Given the description of an element on the screen output the (x, y) to click on. 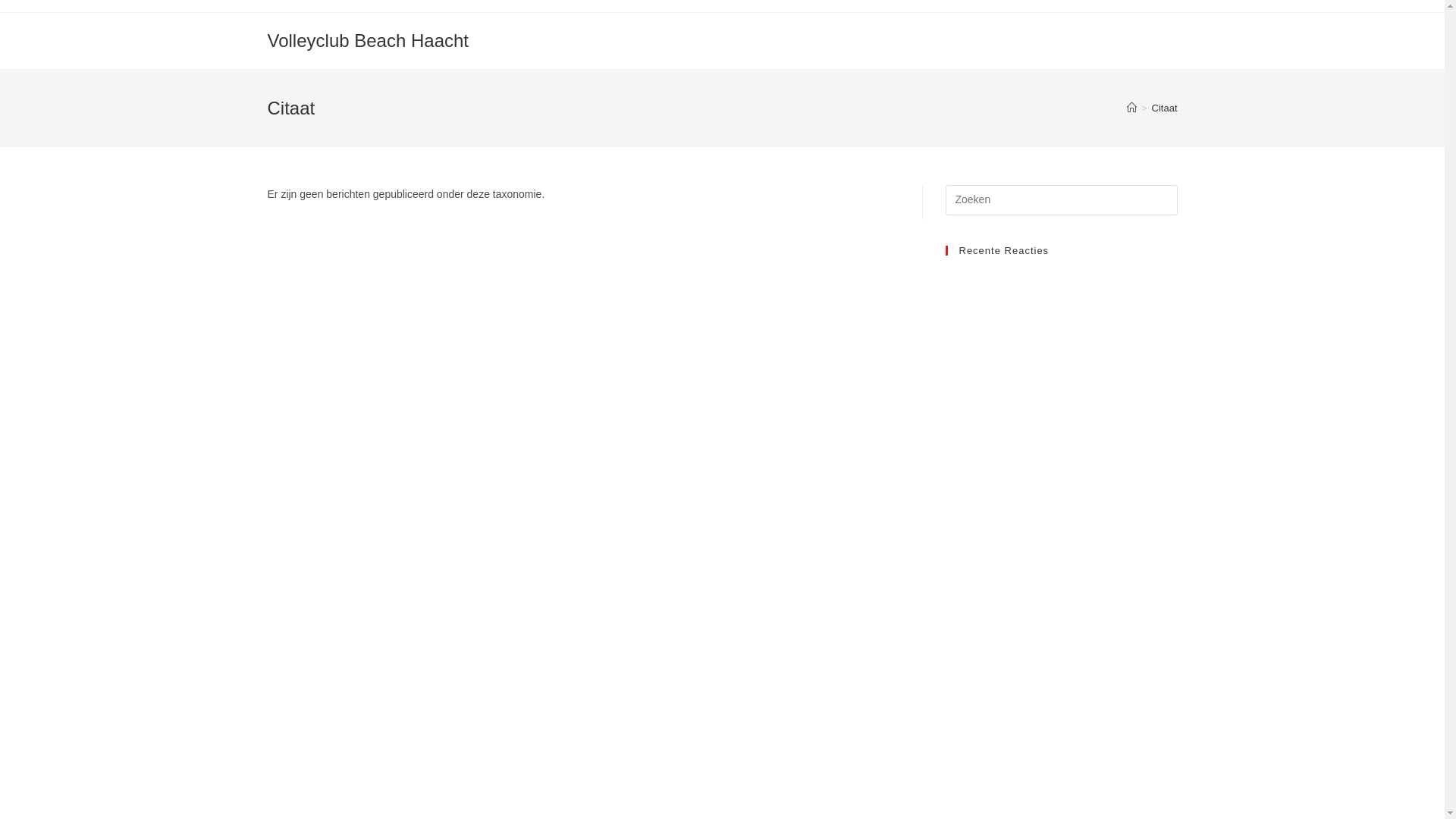
Citaat Element type: text (1164, 107)
Volleyclub Beach Haacht Element type: text (367, 40)
